Given the description of an element on the screen output the (x, y) to click on. 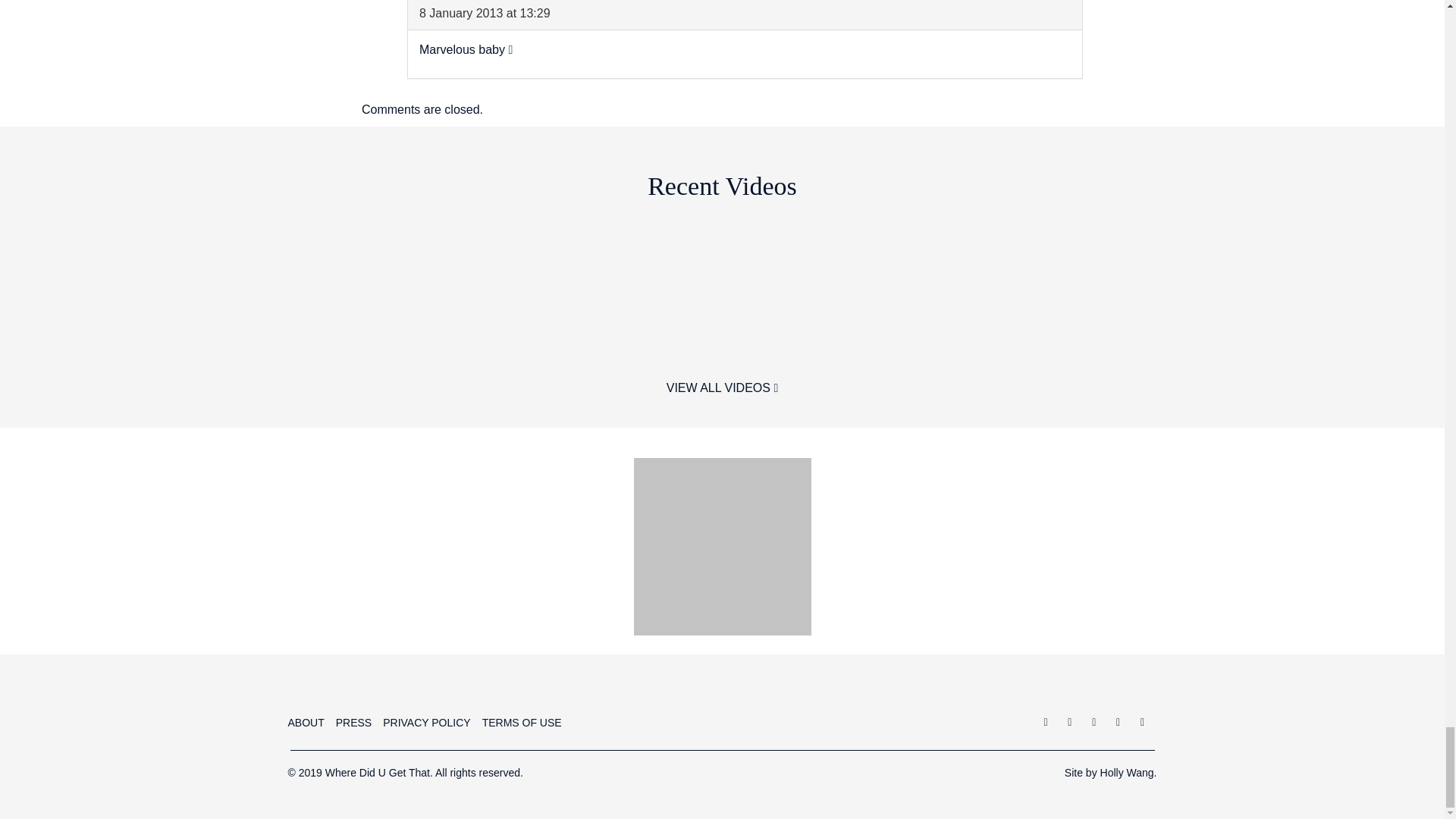
Privacy policy (426, 724)
YouTube player (252, 287)
YouTube player (844, 287)
Press (353, 724)
Terms of Use (521, 724)
About (306, 724)
